Given the description of an element on the screen output the (x, y) to click on. 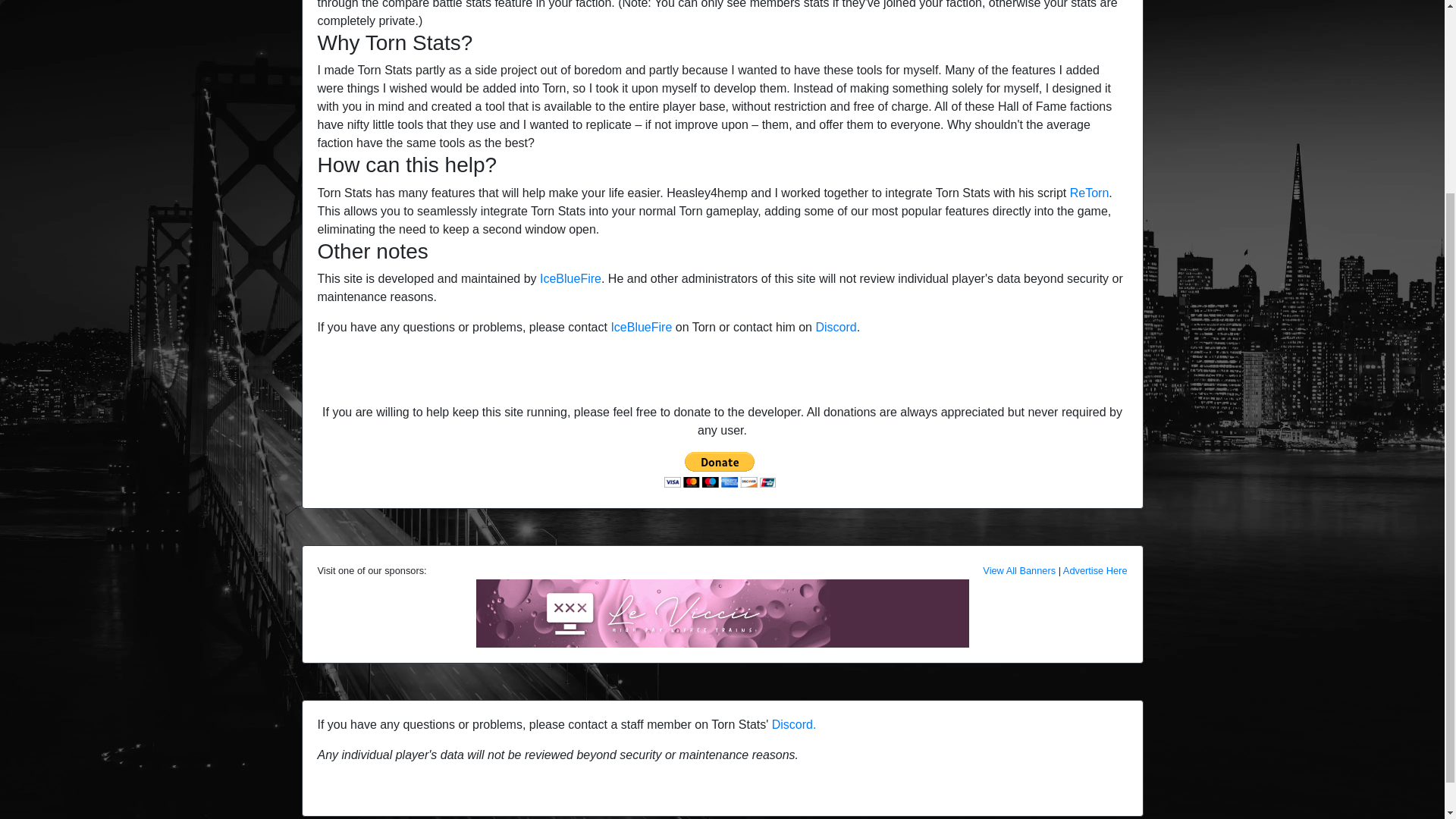
Advertise Here (1094, 570)
Discord. (793, 724)
IceBlueFire (570, 278)
Discord (835, 327)
ReTorn (1089, 192)
View All Banners (1018, 570)
IceBlueFire (640, 327)
